Given the description of an element on the screen output the (x, y) to click on. 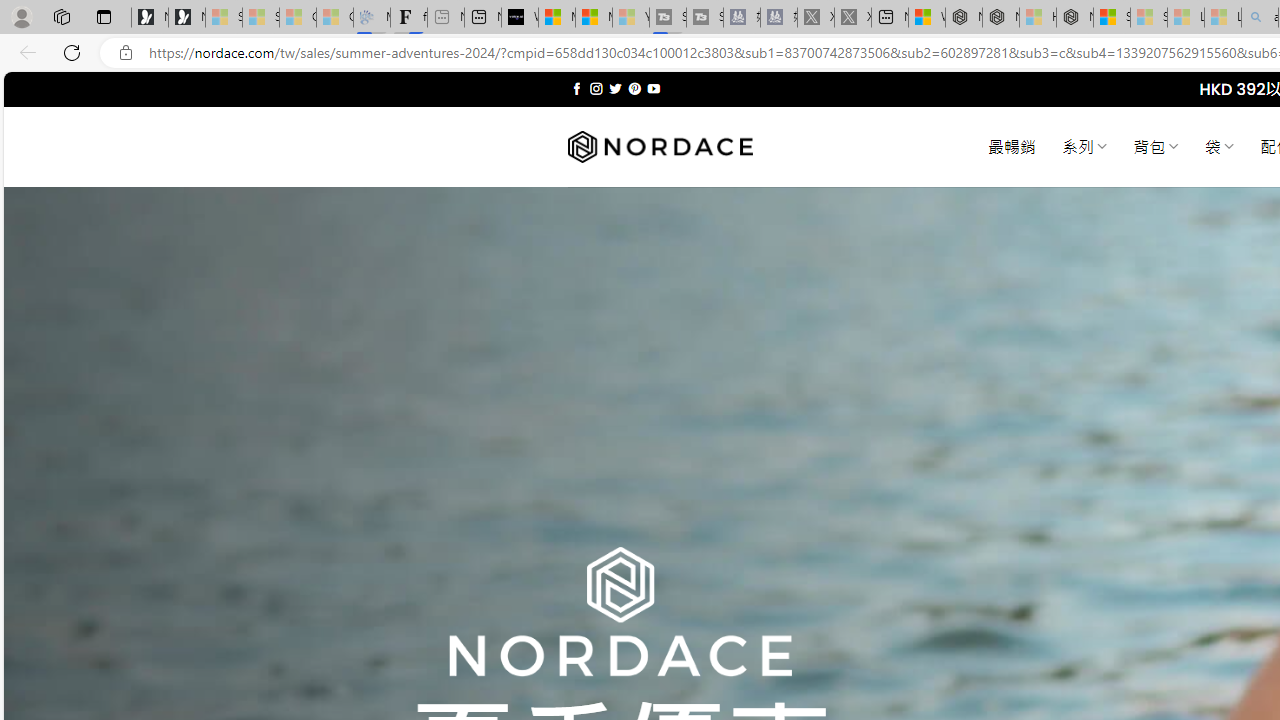
Nordace - Nordace Siena Is Not An Ordinary Backpack (1075, 17)
Follow on YouTube (653, 88)
